Given the description of an element on the screen output the (x, y) to click on. 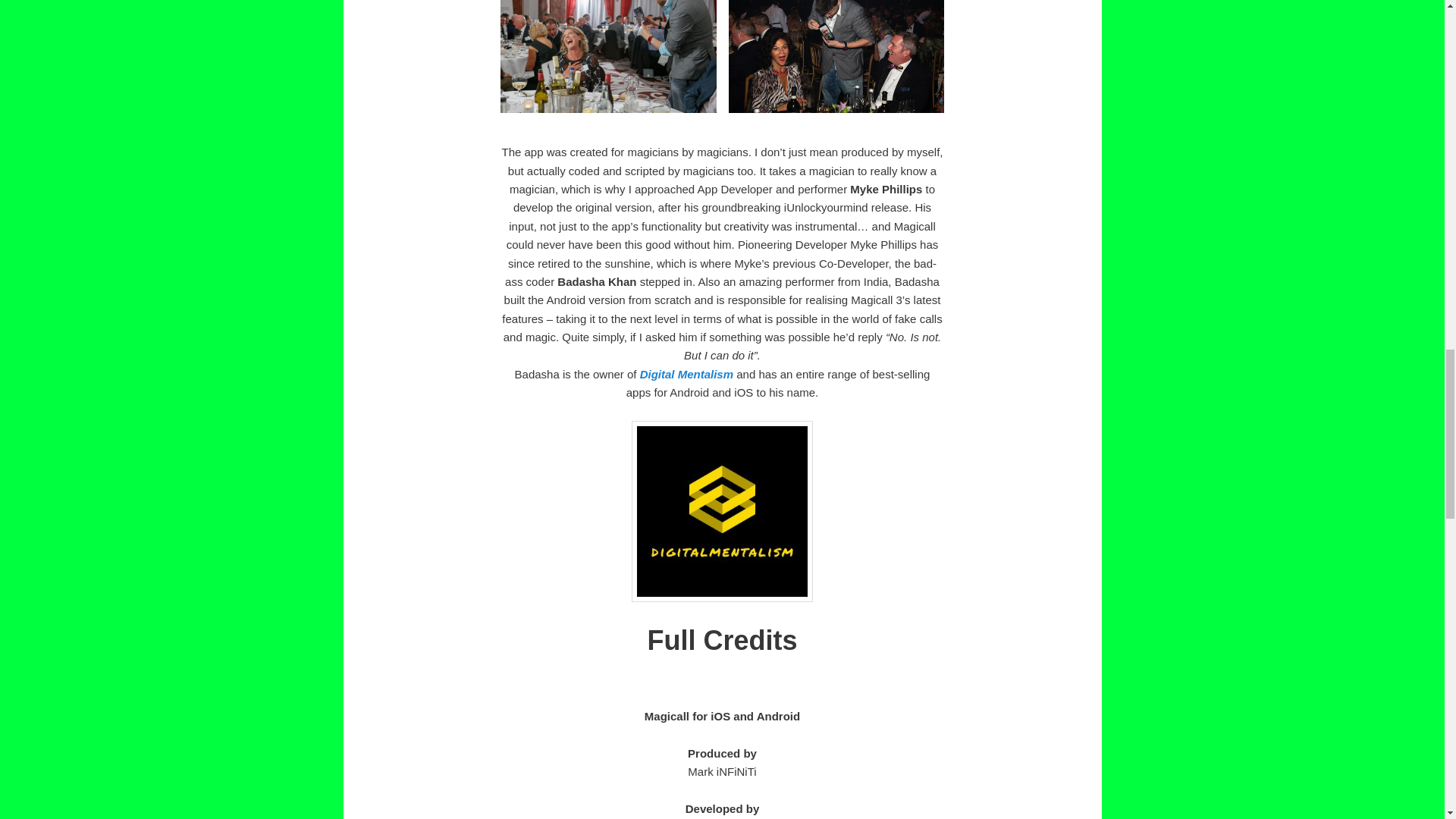
Digital Mentalism (686, 373)
